Given the description of an element on the screen output the (x, y) to click on. 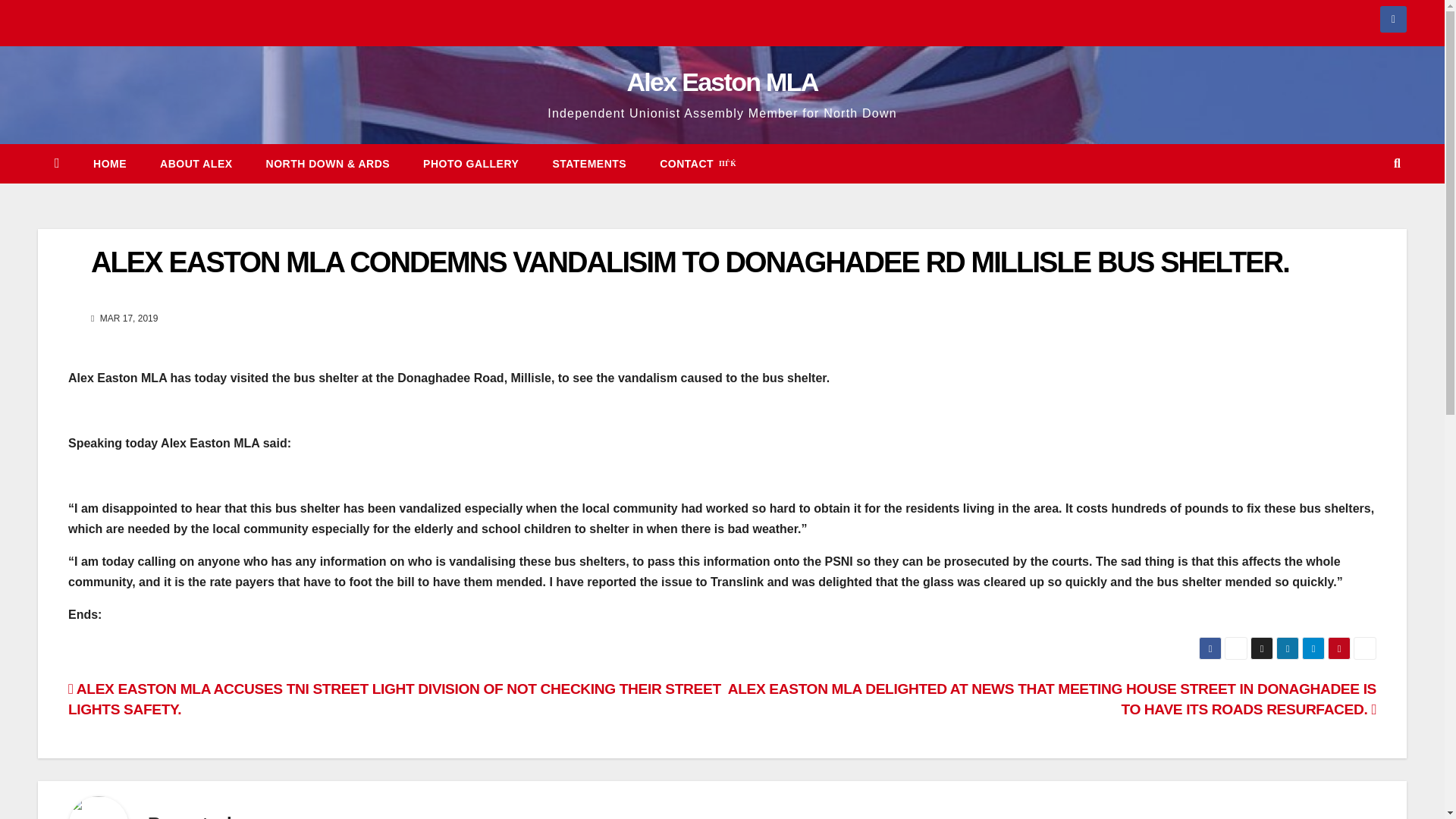
HOME (109, 163)
CONTACT (697, 163)
ABOUT ALEX (195, 163)
About Alex (195, 163)
Photo Gallery (470, 163)
STATEMENTS (589, 163)
